Given the description of an element on the screen output the (x, y) to click on. 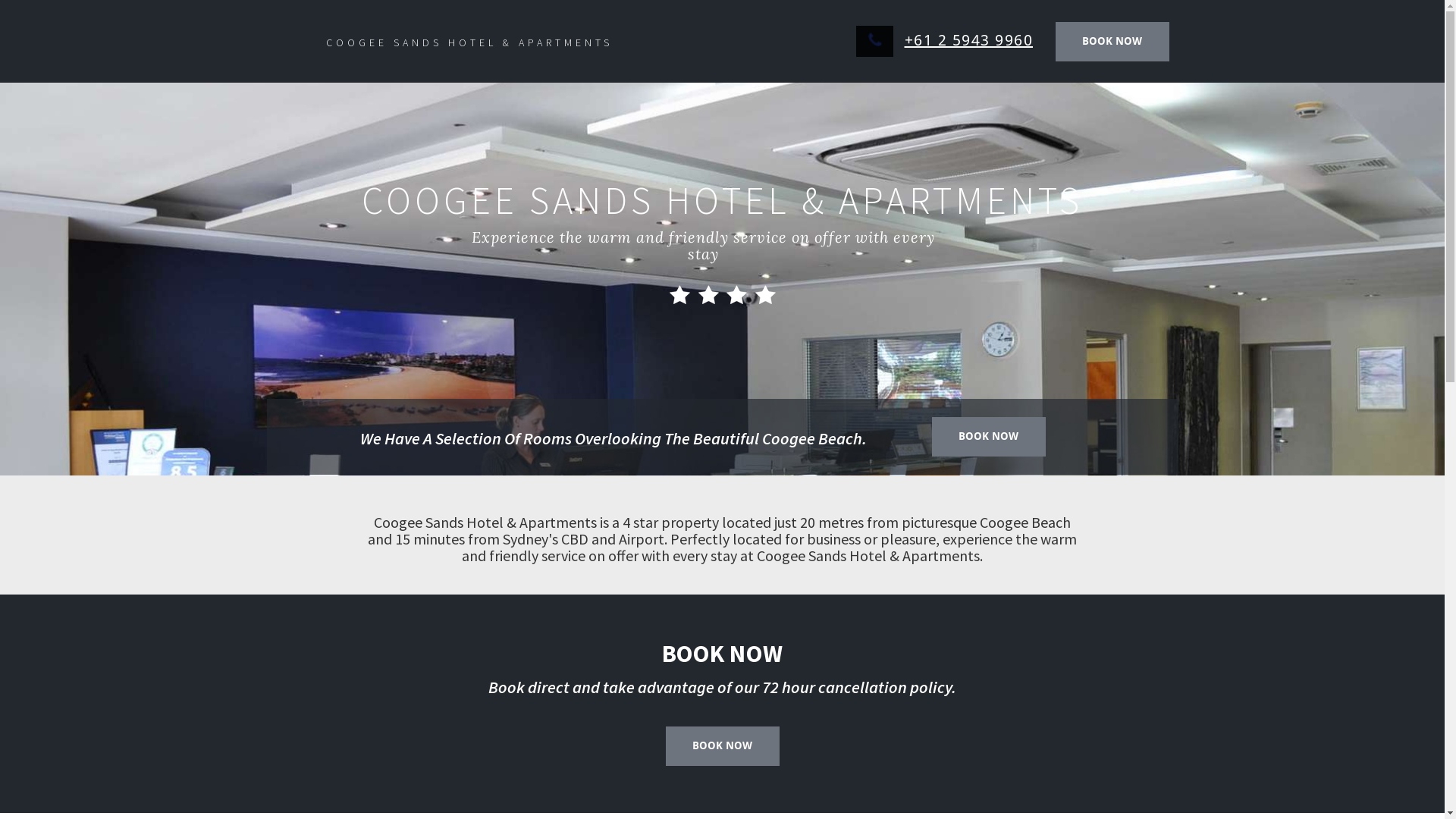
BOOK NOW Element type: text (1112, 41)
BOOK NOW Element type: text (722, 745)
BOOK NOW Element type: text (987, 436)
+61 2 5943 9960 Element type: text (967, 40)
